Given the description of an element on the screen output the (x, y) to click on. 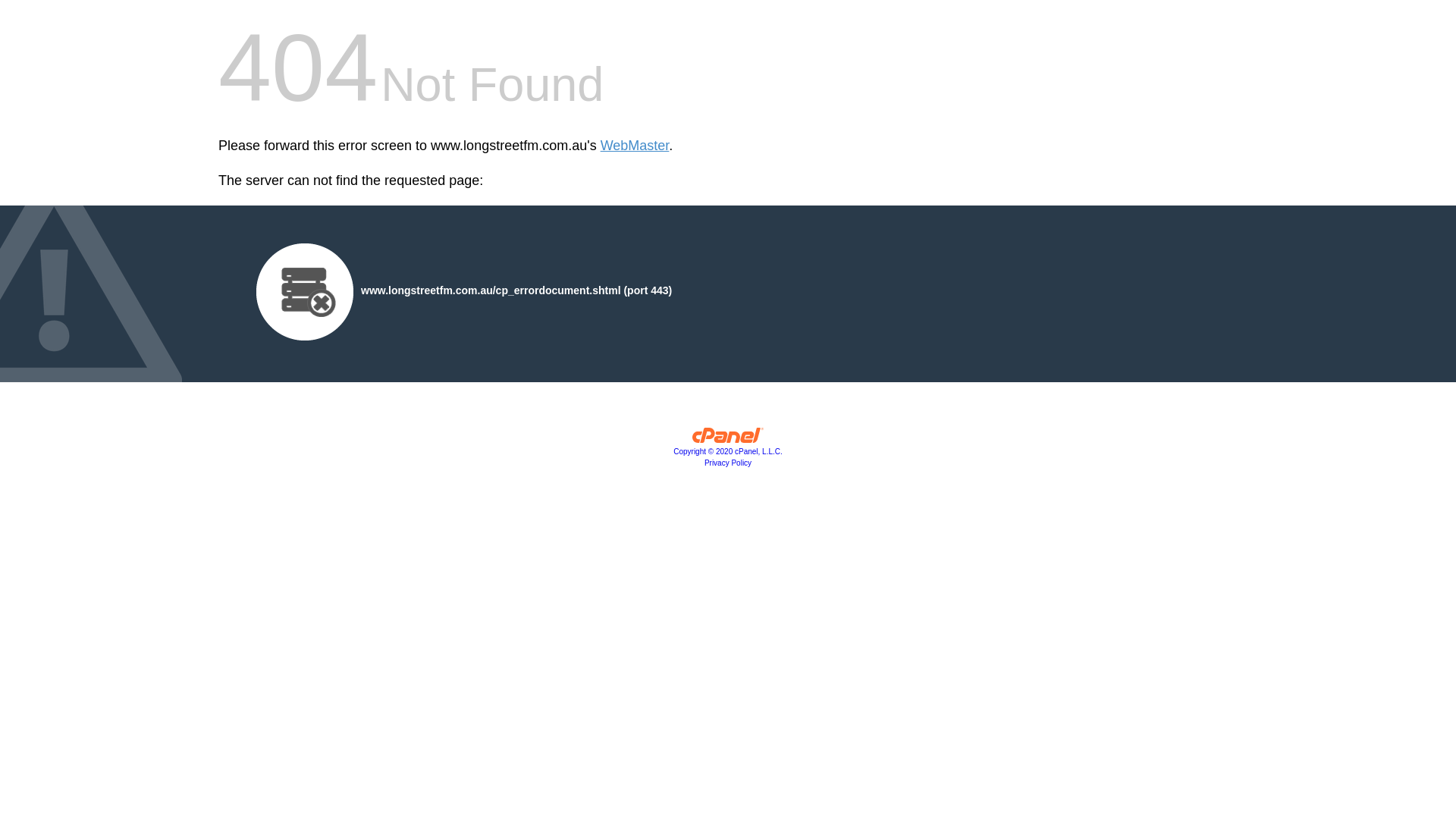
WebMaster Element type: text (634, 145)
cPanel, Inc. Element type: hover (728, 439)
Privacy Policy Element type: text (727, 462)
